Given the description of an element on the screen output the (x, y) to click on. 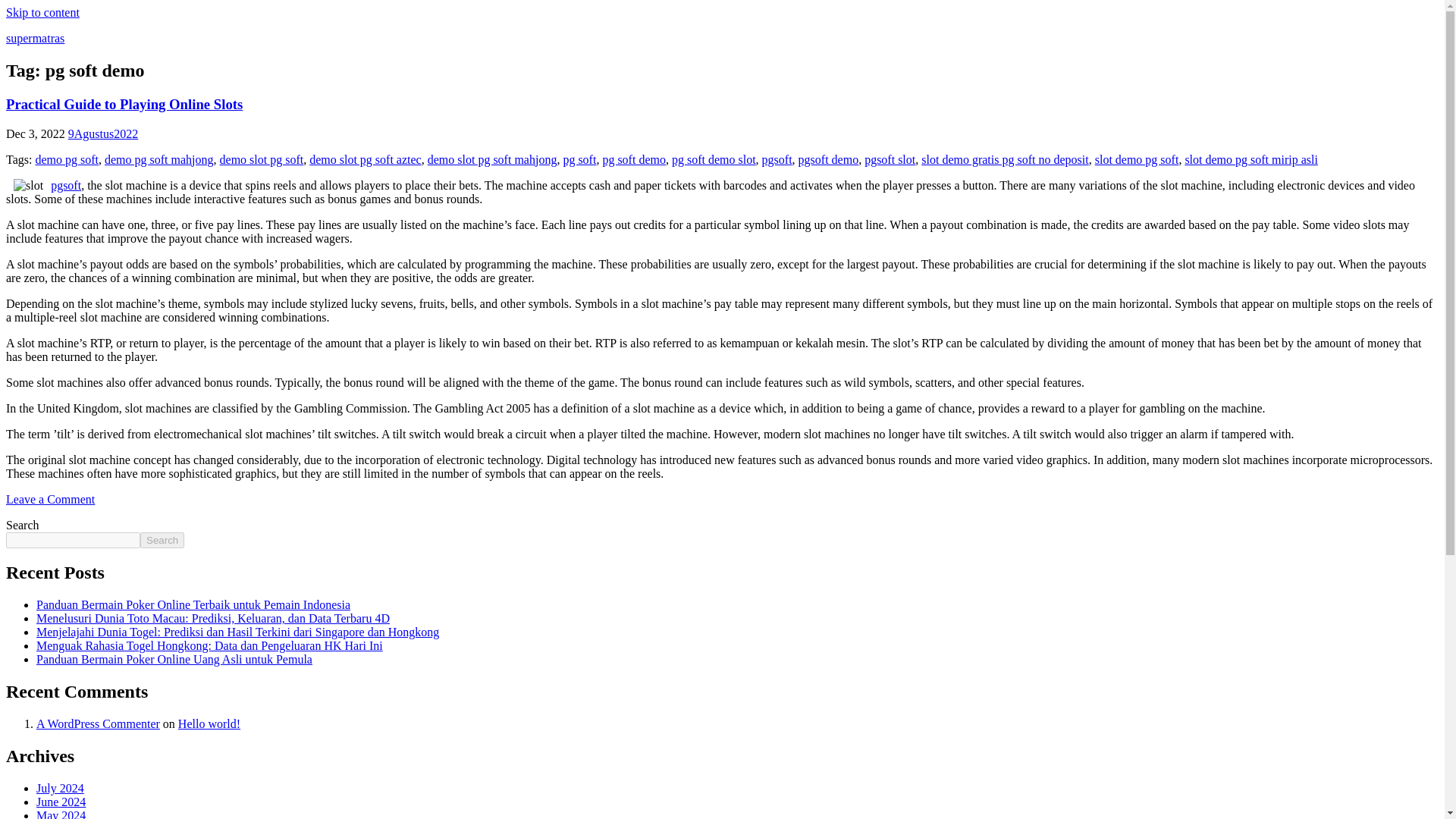
demo pg soft (66, 159)
Panduan Bermain Poker Online Terbaik untuk Pemain Indonesia (193, 604)
pgsoft (776, 159)
Skip to content (42, 11)
slot demo pg soft mirip asli (1251, 159)
A WordPress Commenter (98, 723)
May 2024 (60, 814)
Hello world! (208, 723)
Practical Guide to Playing Online Slots (124, 104)
pg soft demo (633, 159)
July 2024 (60, 788)
pg soft (578, 159)
pgsoft (65, 185)
